Given the description of an element on the screen output the (x, y) to click on. 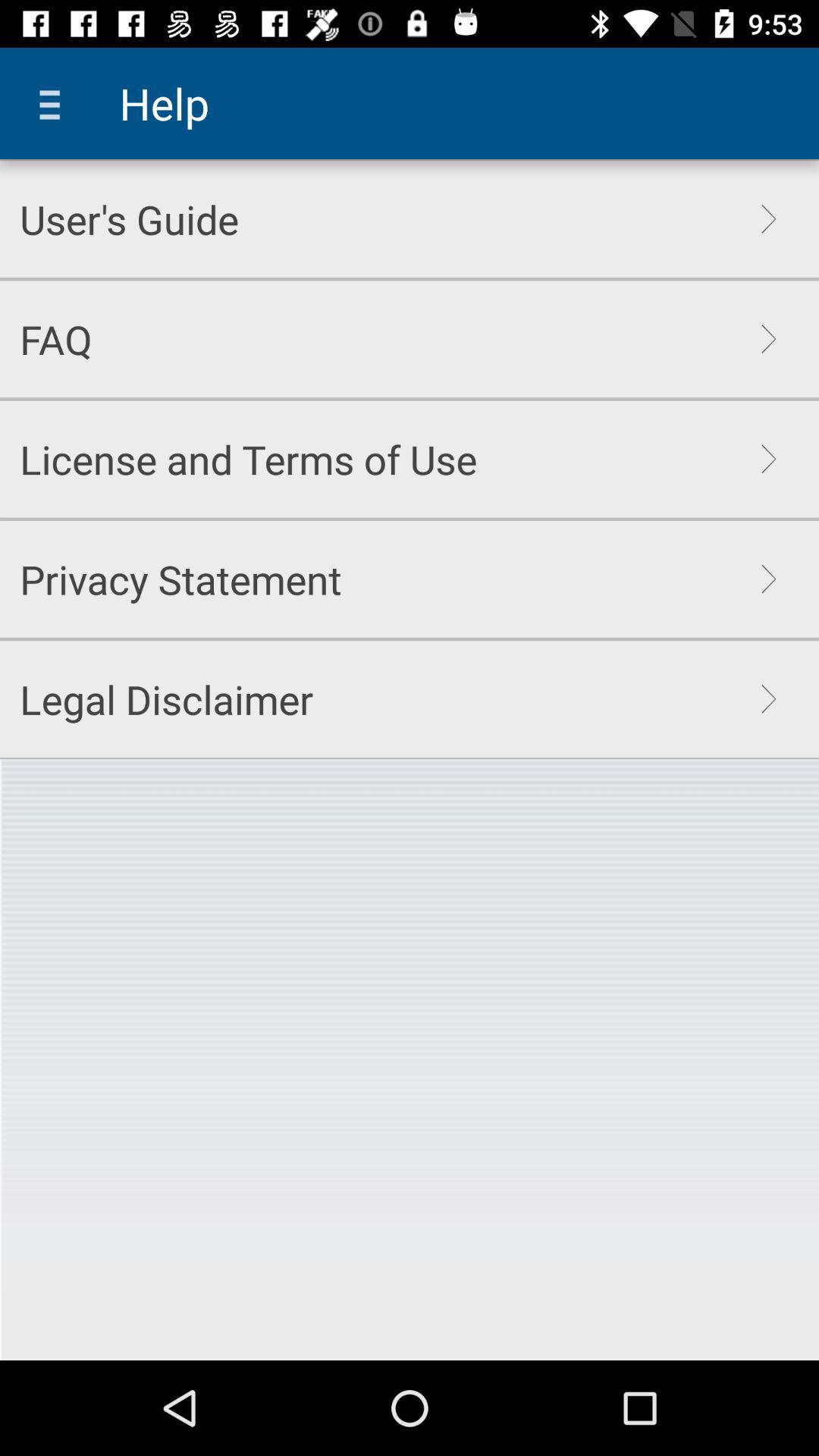
launch icon above the user's guide (55, 103)
